Given the description of an element on the screen output the (x, y) to click on. 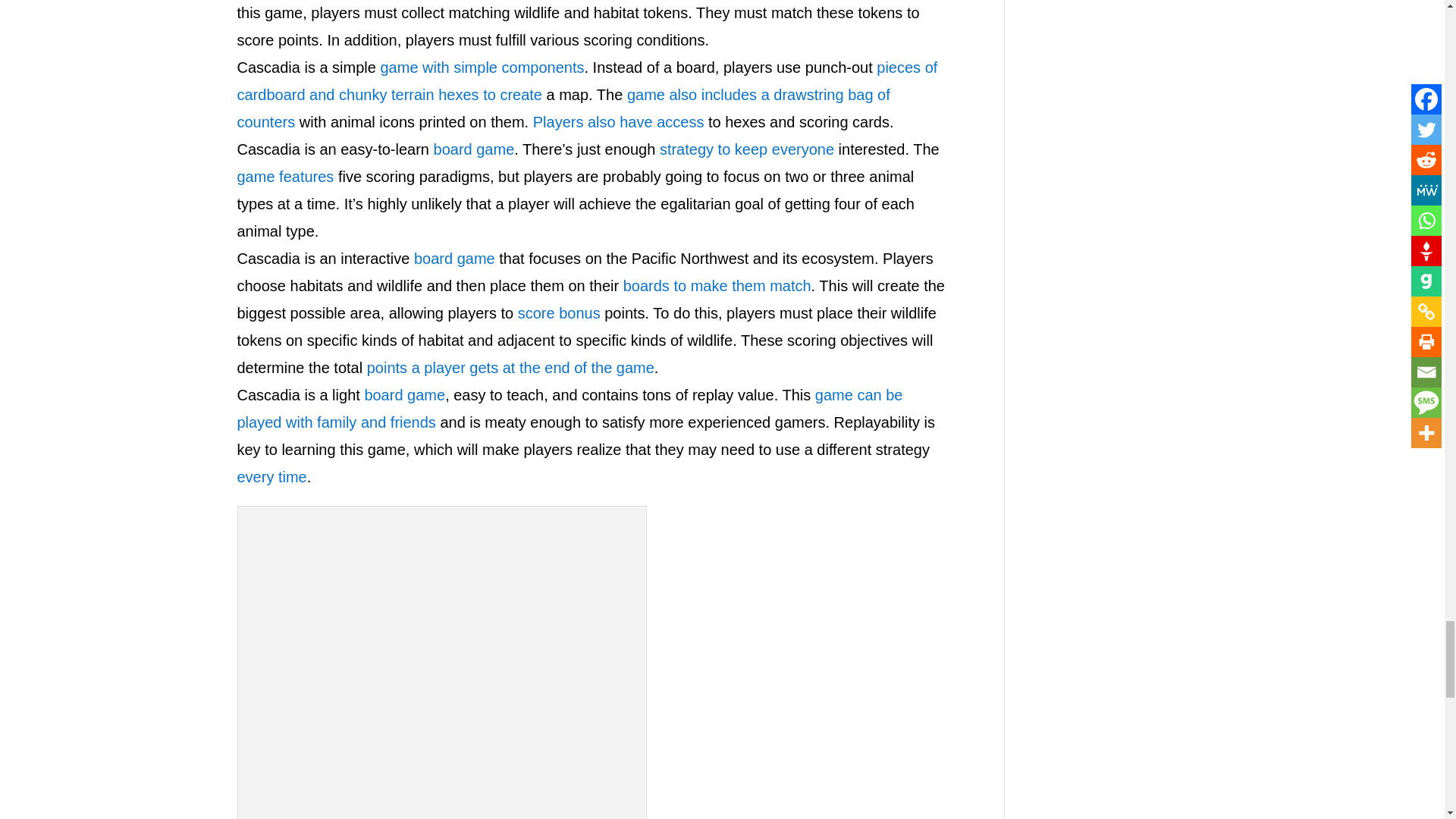
Can Cascadia Become Your Next Favorite Board Game? (442, 665)
